Given the description of an element on the screen output the (x, y) to click on. 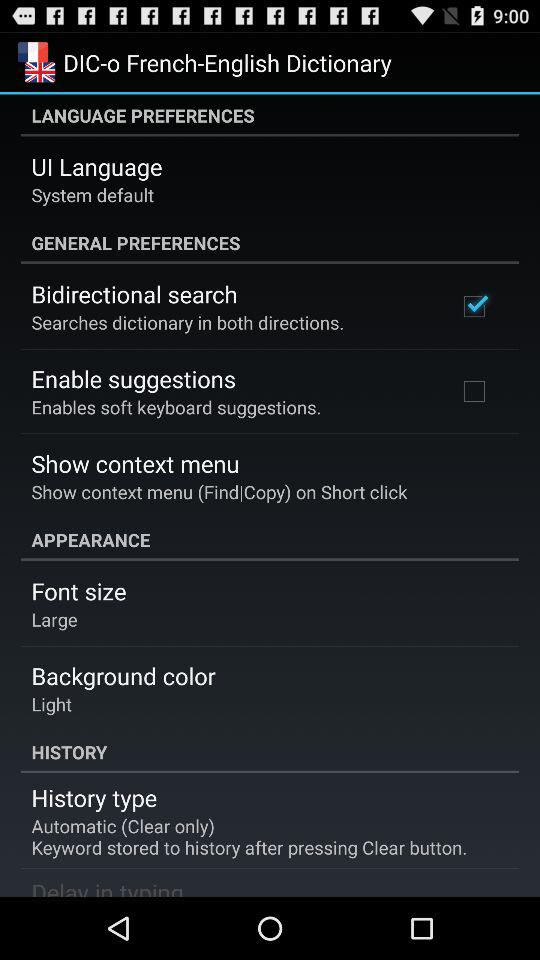
tap item above font size app (270, 539)
